Given the description of an element on the screen output the (x, y) to click on. 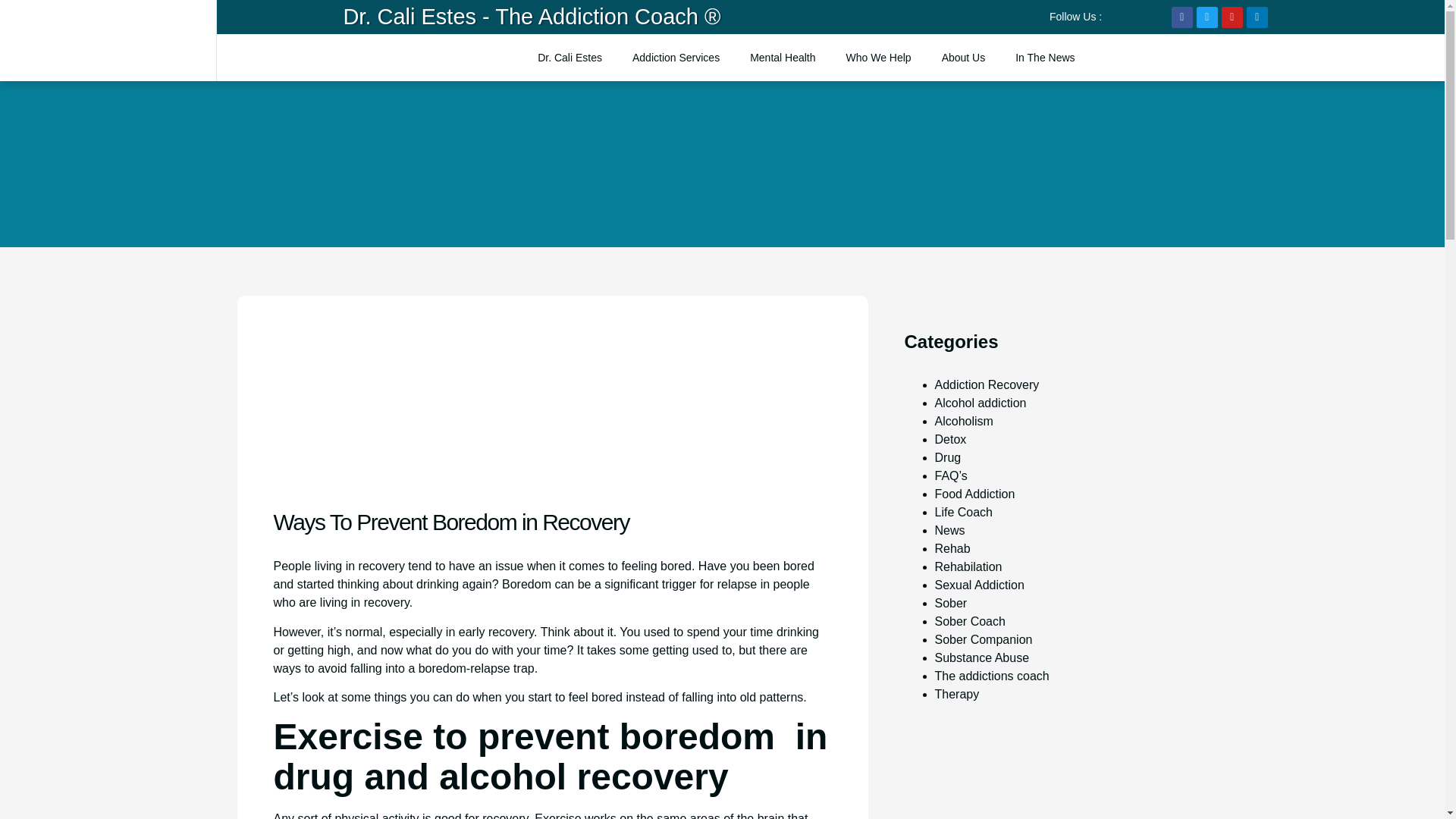
Who We Help (878, 57)
Dr. Cali Estes (569, 57)
Ways To Prevent Boredom in Recovery 1 (386, 408)
About Us (963, 57)
Mental Health (782, 57)
Addiction Services (675, 57)
